Given the description of an element on the screen output the (x, y) to click on. 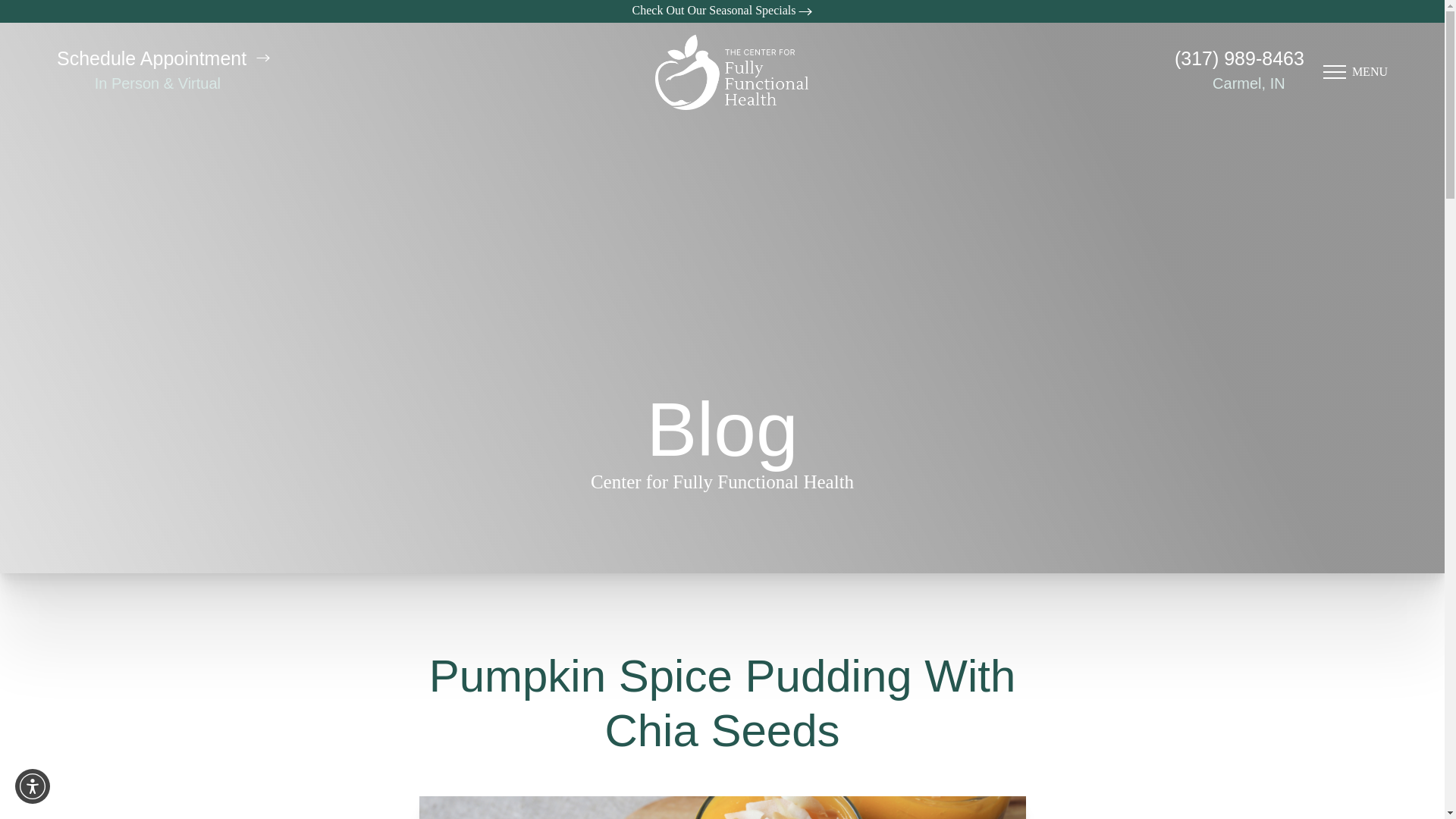
Schedule Appointment (162, 57)
Check Out Our Seasonal Specials (721, 11)
